Given the description of an element on the screen output the (x, y) to click on. 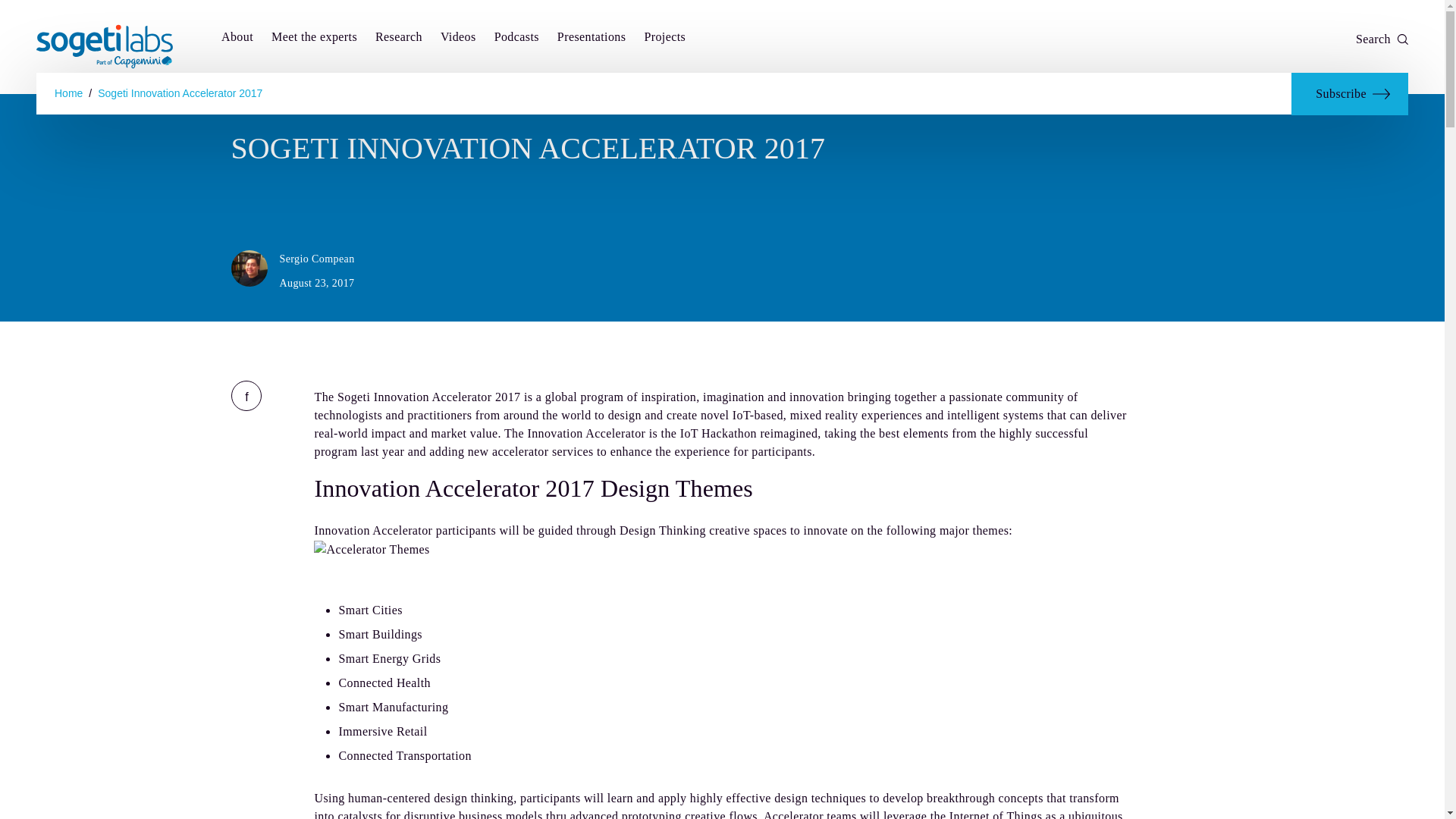
Search (1381, 39)
Projects (664, 37)
Home (68, 93)
About (237, 37)
Videos (458, 37)
opens in a new window (245, 395)
Research (398, 37)
Presentations (591, 37)
Meet the experts (313, 37)
Podcasts (516, 37)
